Given the description of an element on the screen output the (x, y) to click on. 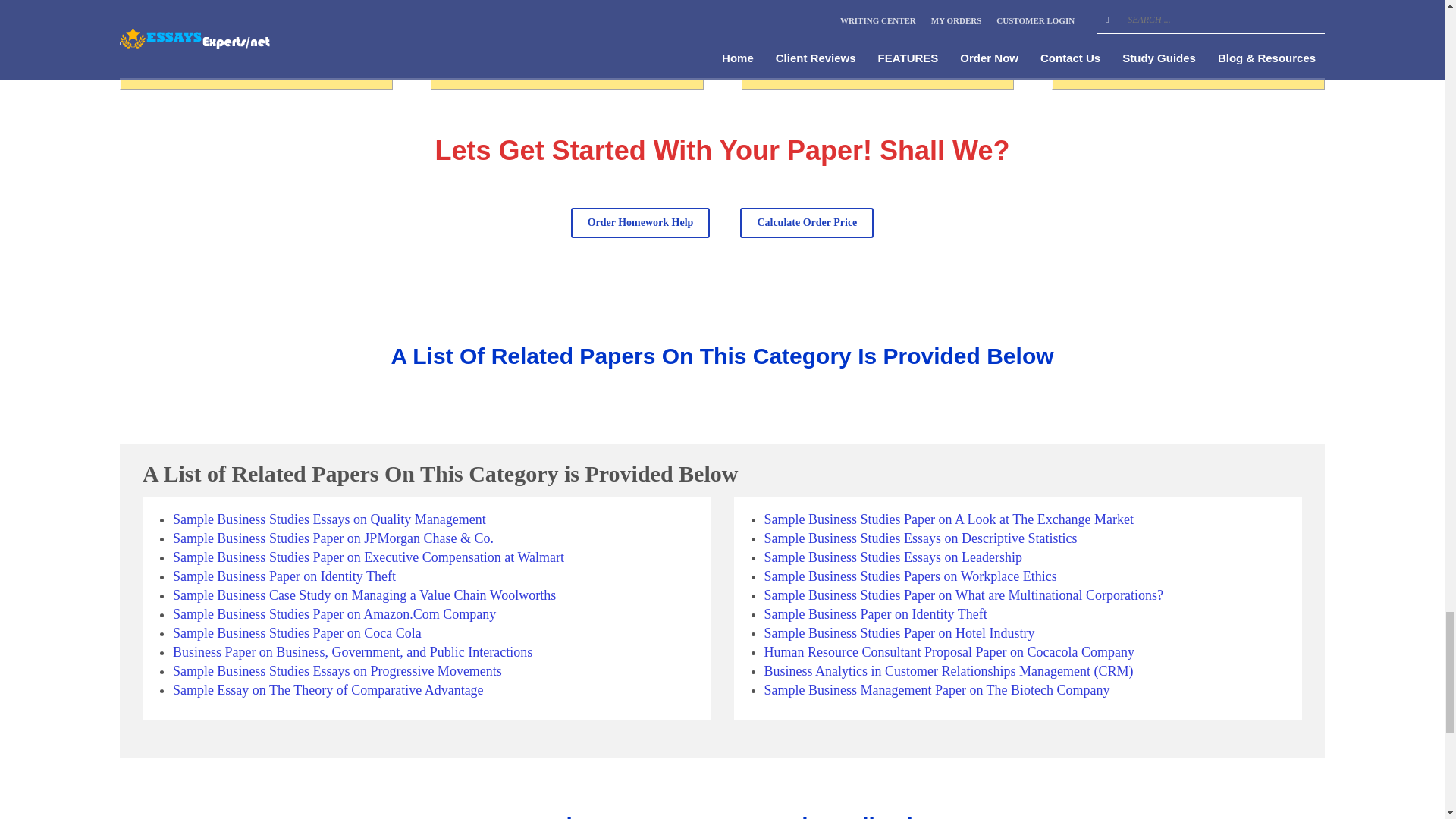
Sample Business Studies Paper on Amazon.Com Company (334, 613)
Sample Business Studies Essays on Progressive Movements (337, 670)
Sample Essay on The Theory of Comparative Advantage (328, 689)
Sample Business Studies Paper on Coca Cola (297, 632)
Order Homework Help (640, 223)
Calculate Order Price (806, 223)
Sample Business Paper on Identity Theft (284, 575)
Sample Business Studies Essays on Quality Management (329, 519)
